Given the description of an element on the screen output the (x, y) to click on. 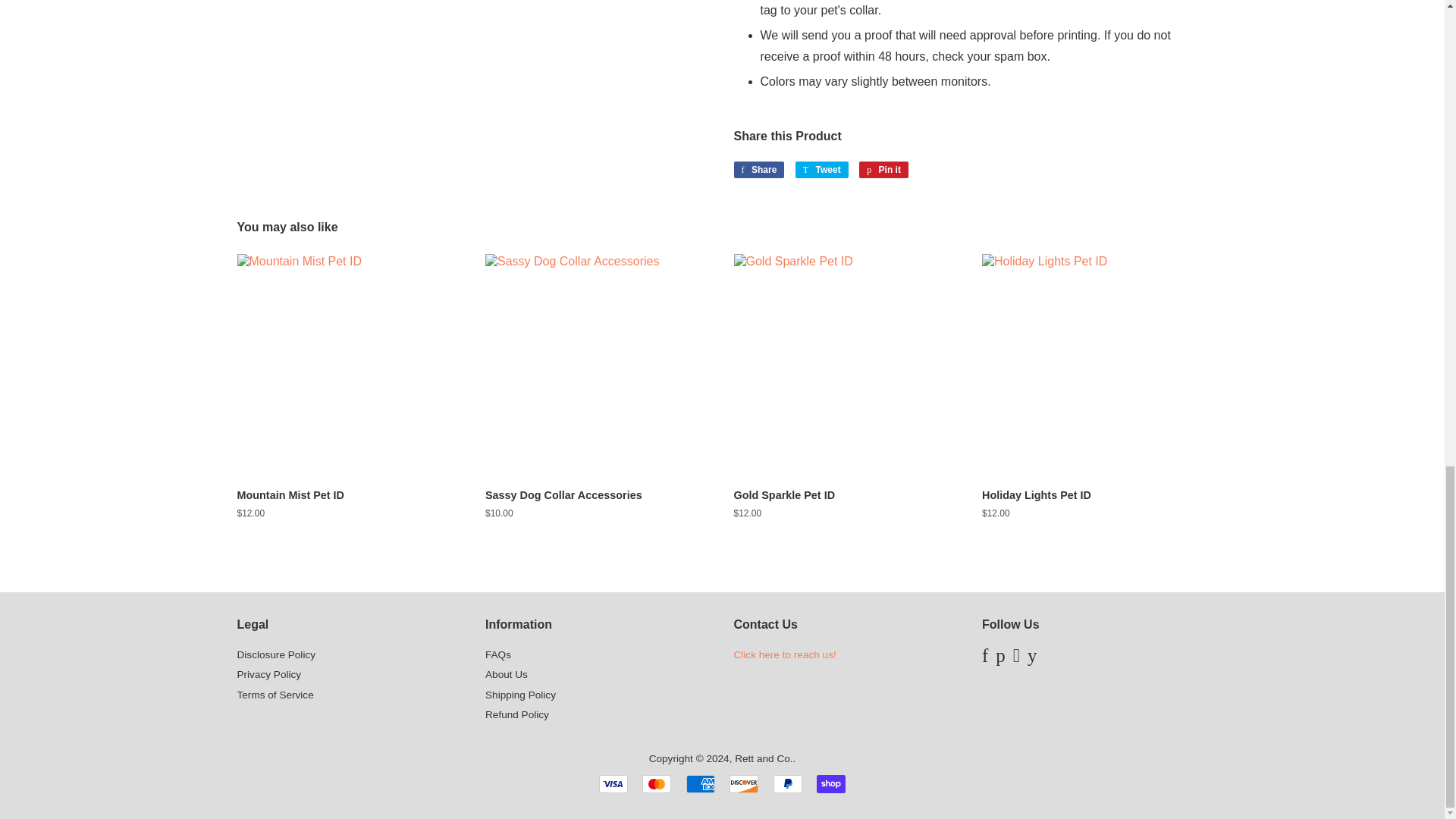
Discover (743, 783)
Shop Pay (830, 783)
PayPal (787, 783)
Visa (612, 783)
Share on Facebook (758, 169)
American Express (699, 783)
Mastercard (656, 783)
Pin on Pinterest (883, 169)
Tweet on Twitter (821, 169)
